Given the description of an element on the screen output the (x, y) to click on. 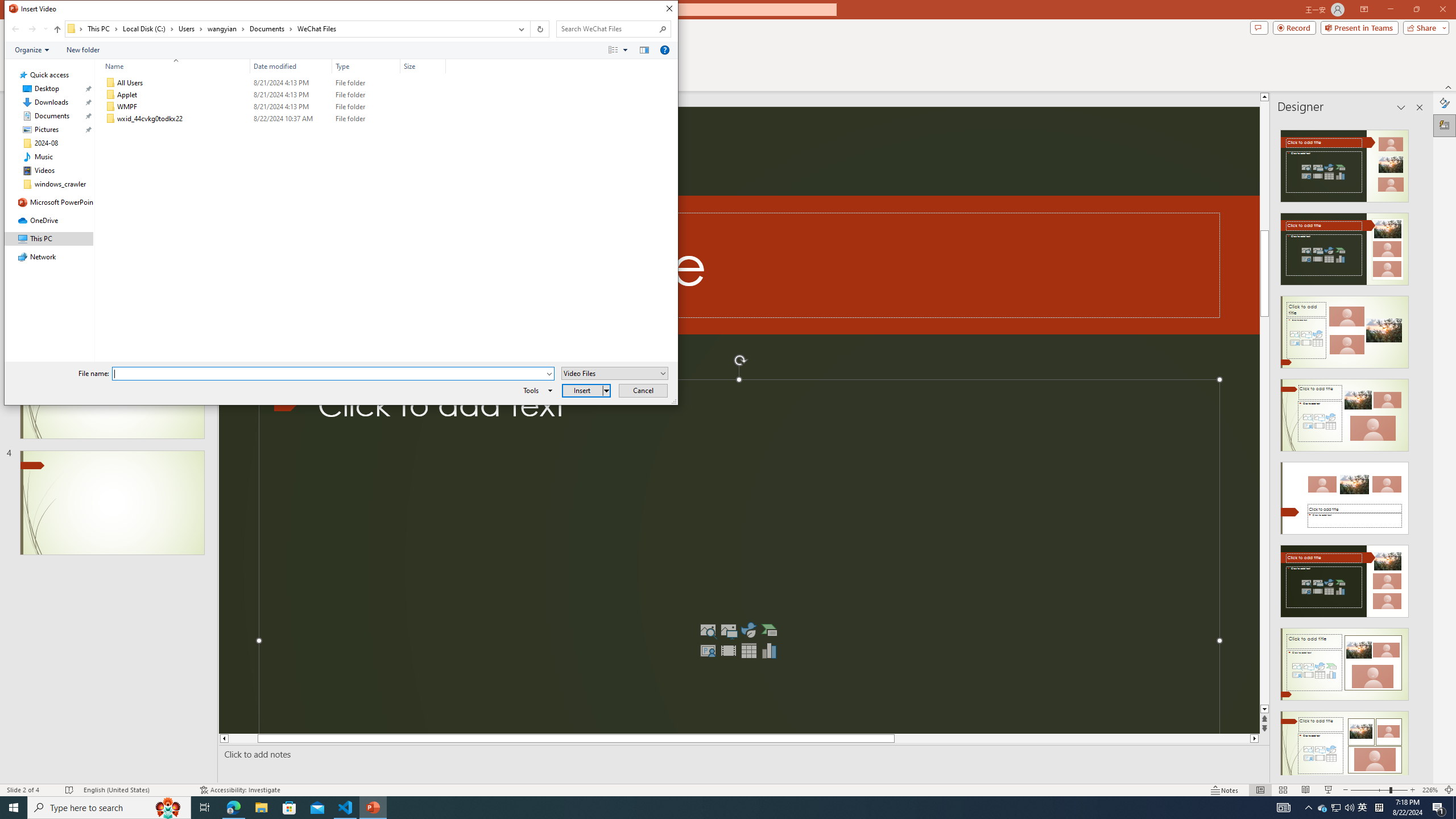
Cancel (643, 390)
All Users (273, 82)
Action Center, 1 new notification (1439, 807)
Format Background (1444, 102)
Preview pane (644, 49)
Insert Cameo (707, 650)
Filter dropdown (440, 65)
Zoom 226% (1430, 790)
Back (Alt + Left Arrow) (15, 28)
Tools (535, 390)
